Given the description of an element on the screen output the (x, y) to click on. 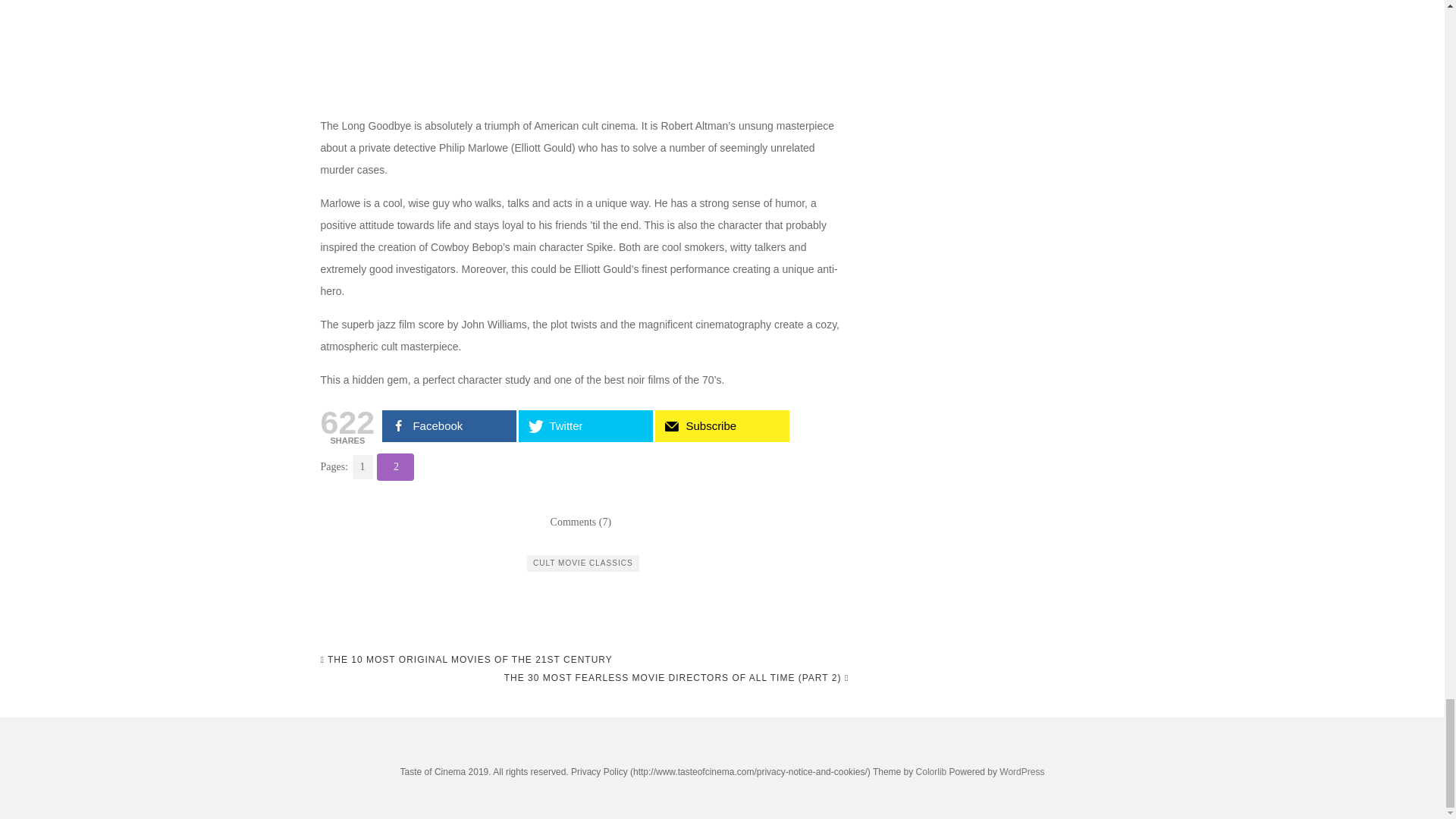
THE 10 MOST ORIGINAL MOVIES OF THE 21ST CENTURY (465, 659)
1 (361, 466)
Twitter (585, 426)
CULT MOVIE CLASSICS (583, 563)
Subscribe (722, 426)
Facebook (448, 426)
